Given the description of an element on the screen output the (x, y) to click on. 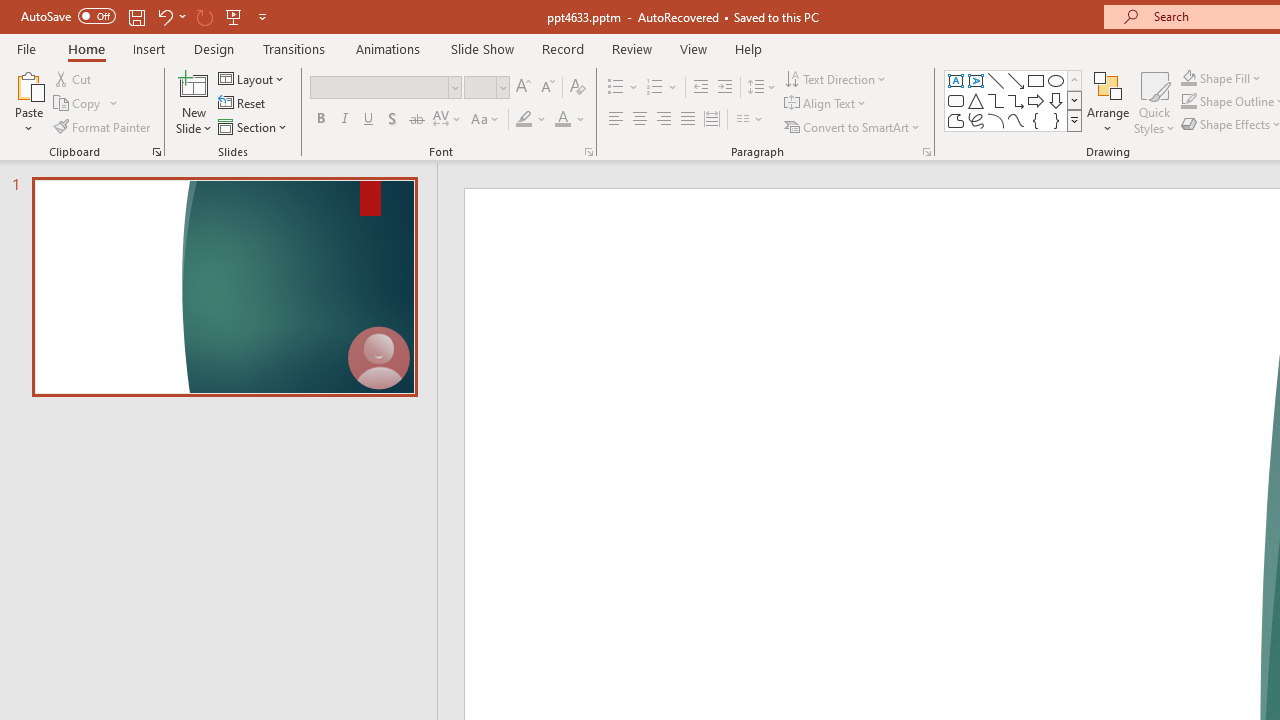
Shape Outline Dark Red, Accent 1 (1188, 101)
